Given the description of an element on the screen output the (x, y) to click on. 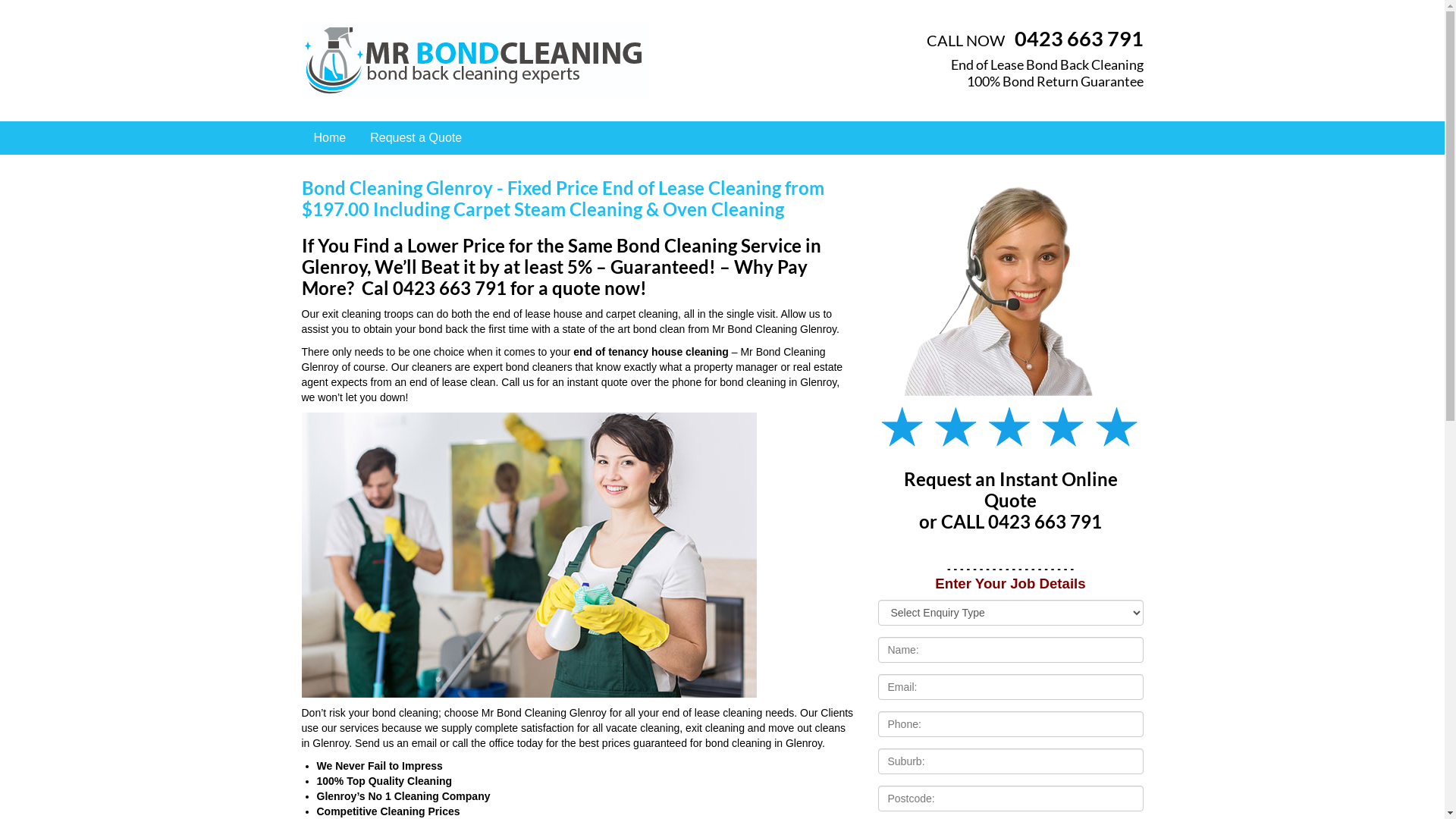
Mr Bond Cleaning Element type: hover (474, 59)
Home Element type: text (329, 137)
Copy text to Clipboard Element type: hover (874, 310)
Translate selected text Element type: hover (874, 290)
Request a Quote Element type: text (415, 137)
Play Element type: hover (874, 300)
